Given the description of an element on the screen output the (x, y) to click on. 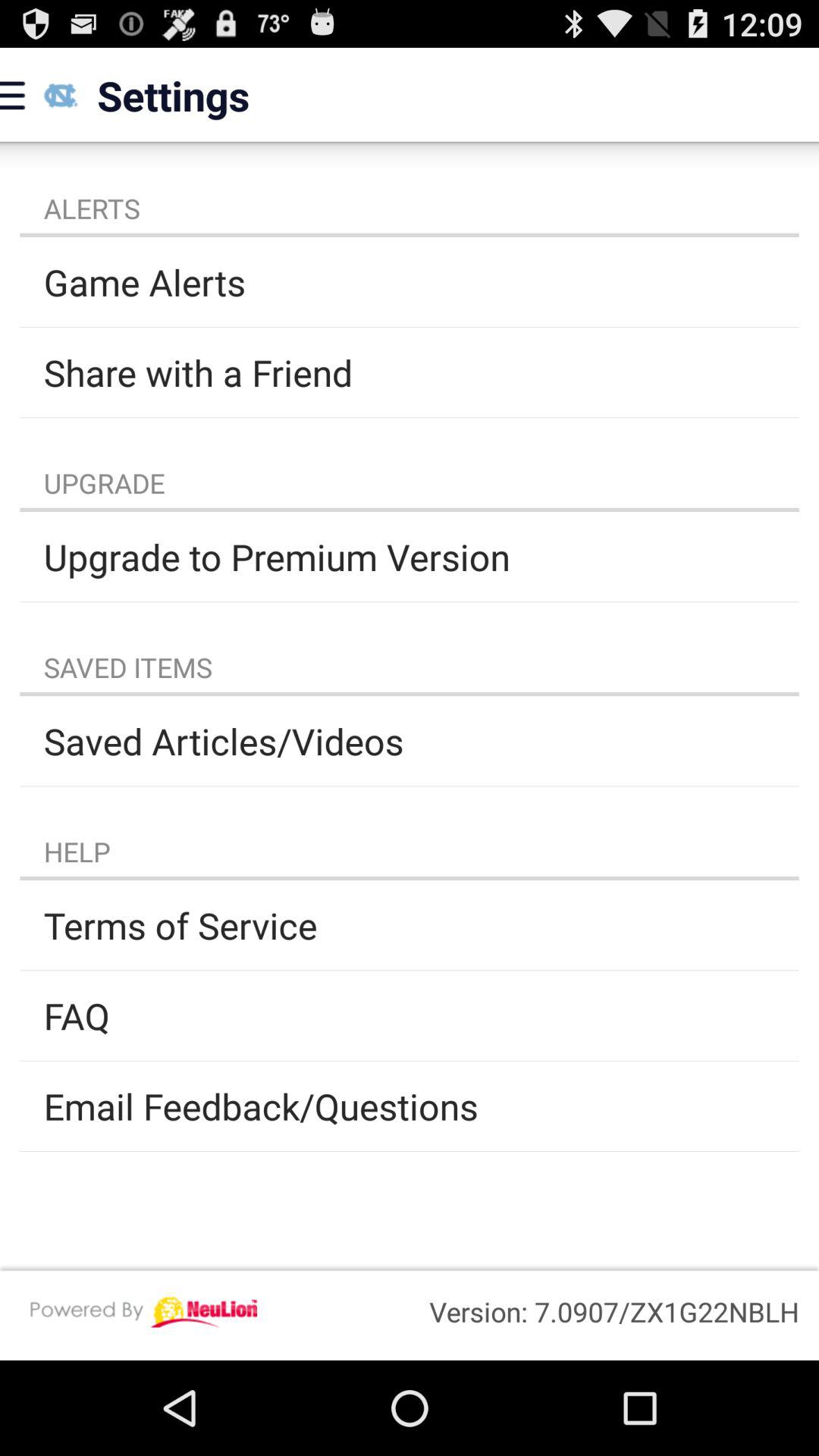
flip to email feedback/questions item (409, 1106)
